Given the description of an element on the screen output the (x, y) to click on. 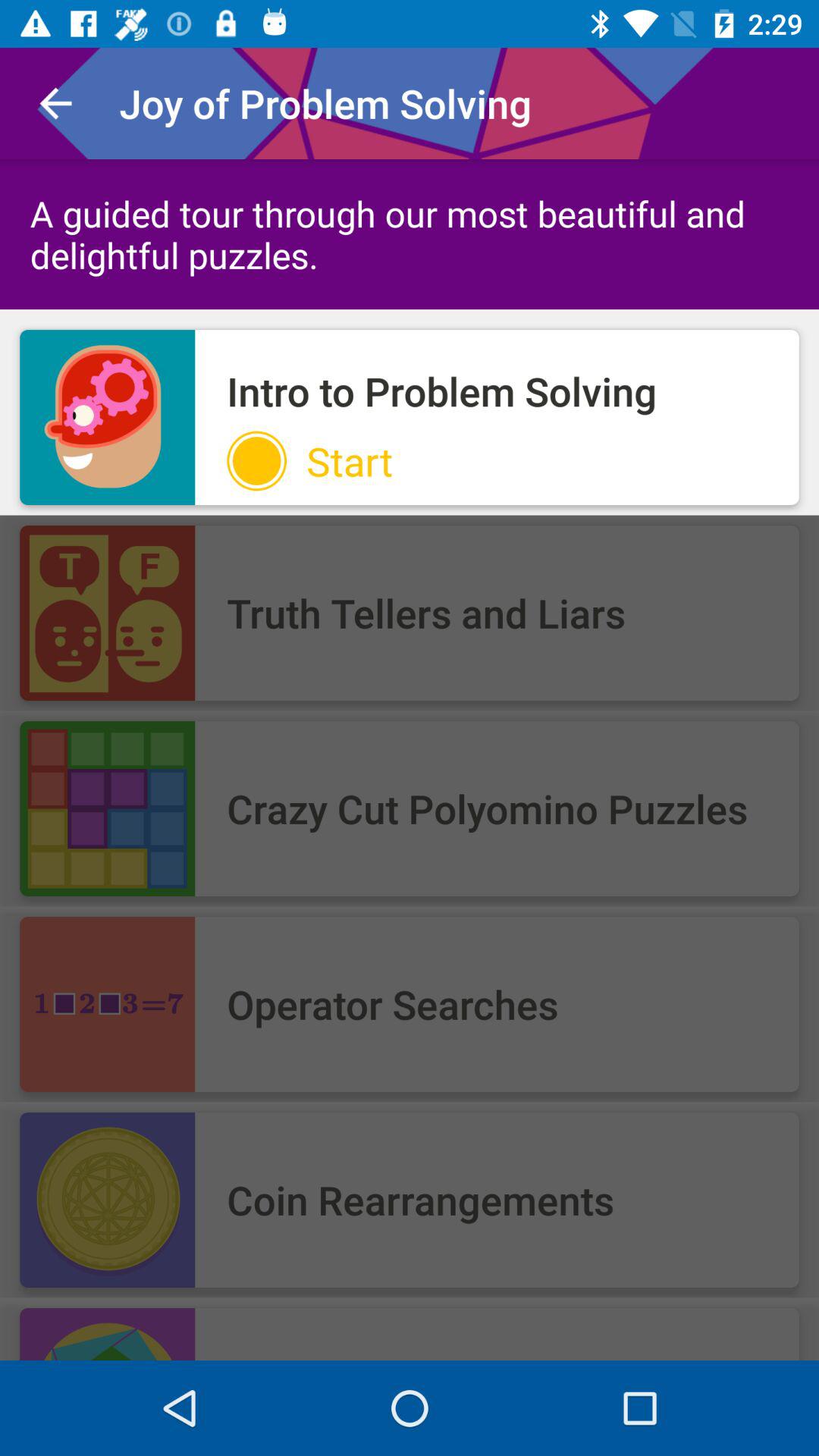
select the item above a guided tour icon (55, 103)
